Given the description of an element on the screen output the (x, y) to click on. 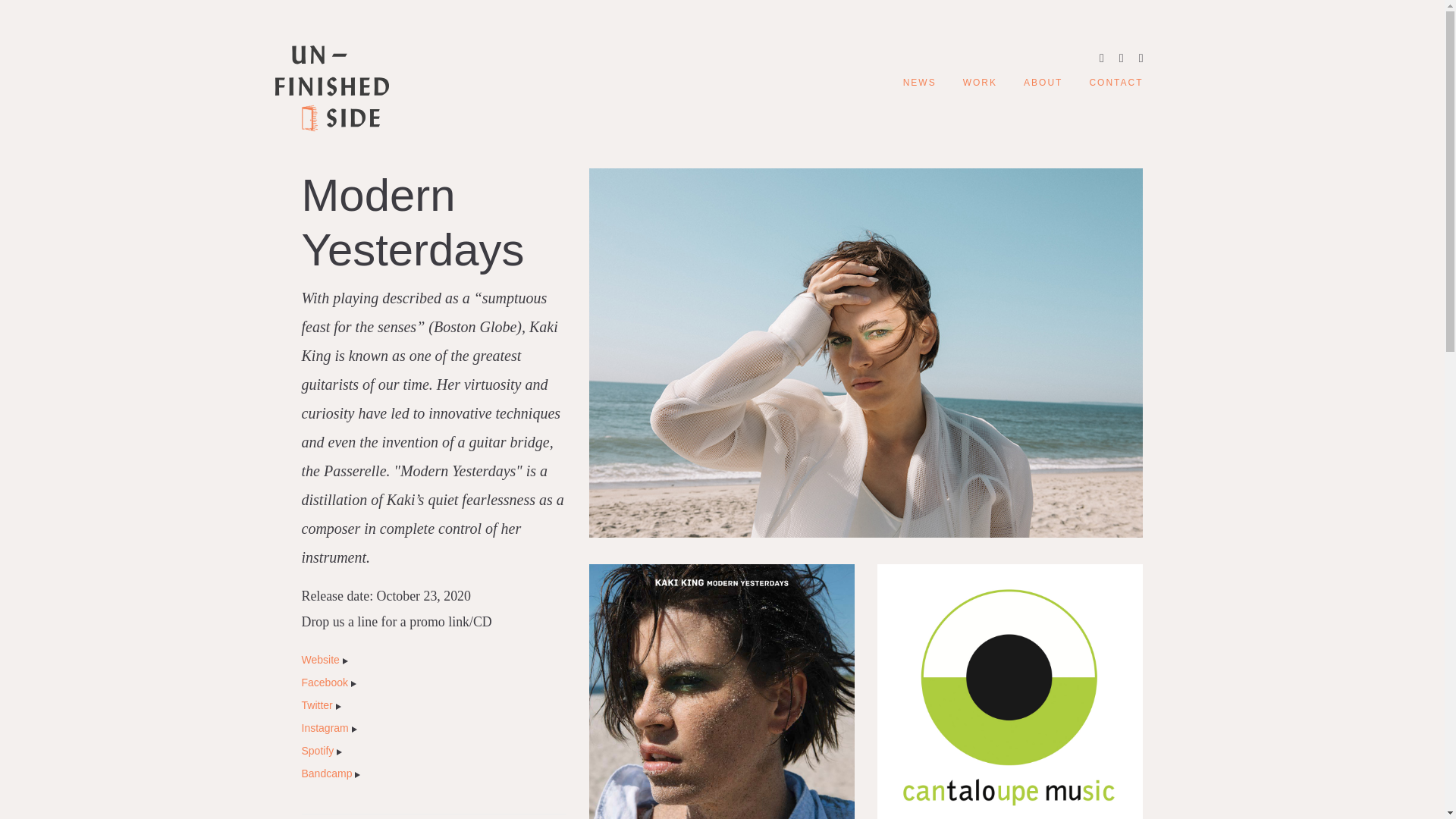
Spotify (321, 750)
Website (324, 659)
Twitter (320, 705)
NEWS (919, 82)
CONTACT (1115, 82)
Facebook (328, 682)
Bandcamp (331, 773)
WORK (979, 82)
Cantaloupe logo - 1000 (1009, 691)
Instagram (328, 727)
